Given the description of an element on the screen output the (x, y) to click on. 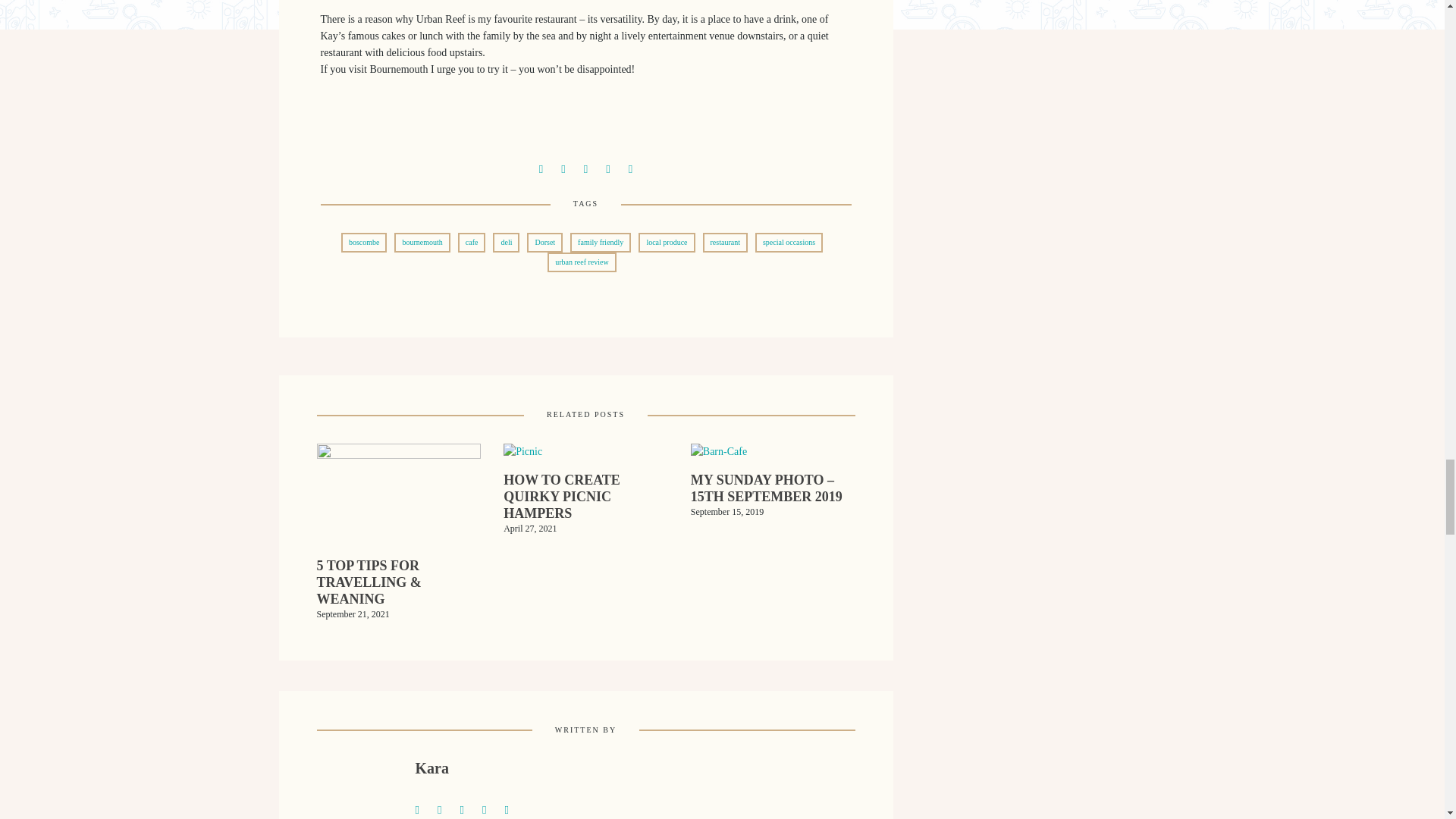
How to create quirky picnic hampers (585, 506)
Urban Reef Restaurant, Bournemouth (563, 167)
Urban Reef Restaurant, Bournemouth (446, 807)
How to create quirky picnic hampers (522, 456)
